Given the description of an element on the screen output the (x, y) to click on. 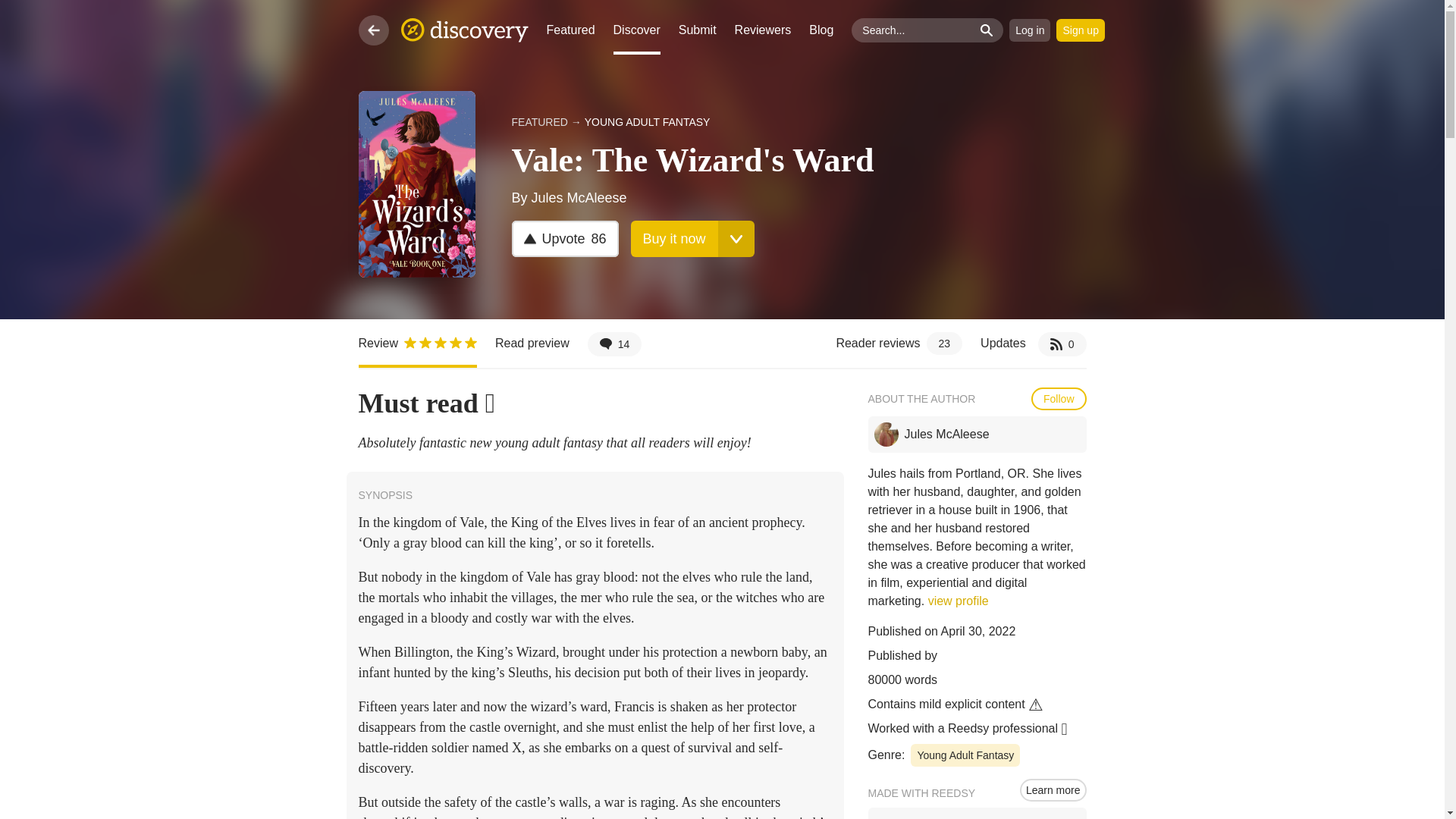
Back (1032, 343)
14 (373, 30)
Comments (615, 343)
Review (564, 238)
Featured (615, 343)
Home (417, 343)
Buy it now (570, 29)
Sign up (463, 30)
Review (673, 238)
Log in (1080, 29)
Read preview (417, 343)
Reader reviews (1029, 29)
Discover (532, 343)
